Given the description of an element on the screen output the (x, y) to click on. 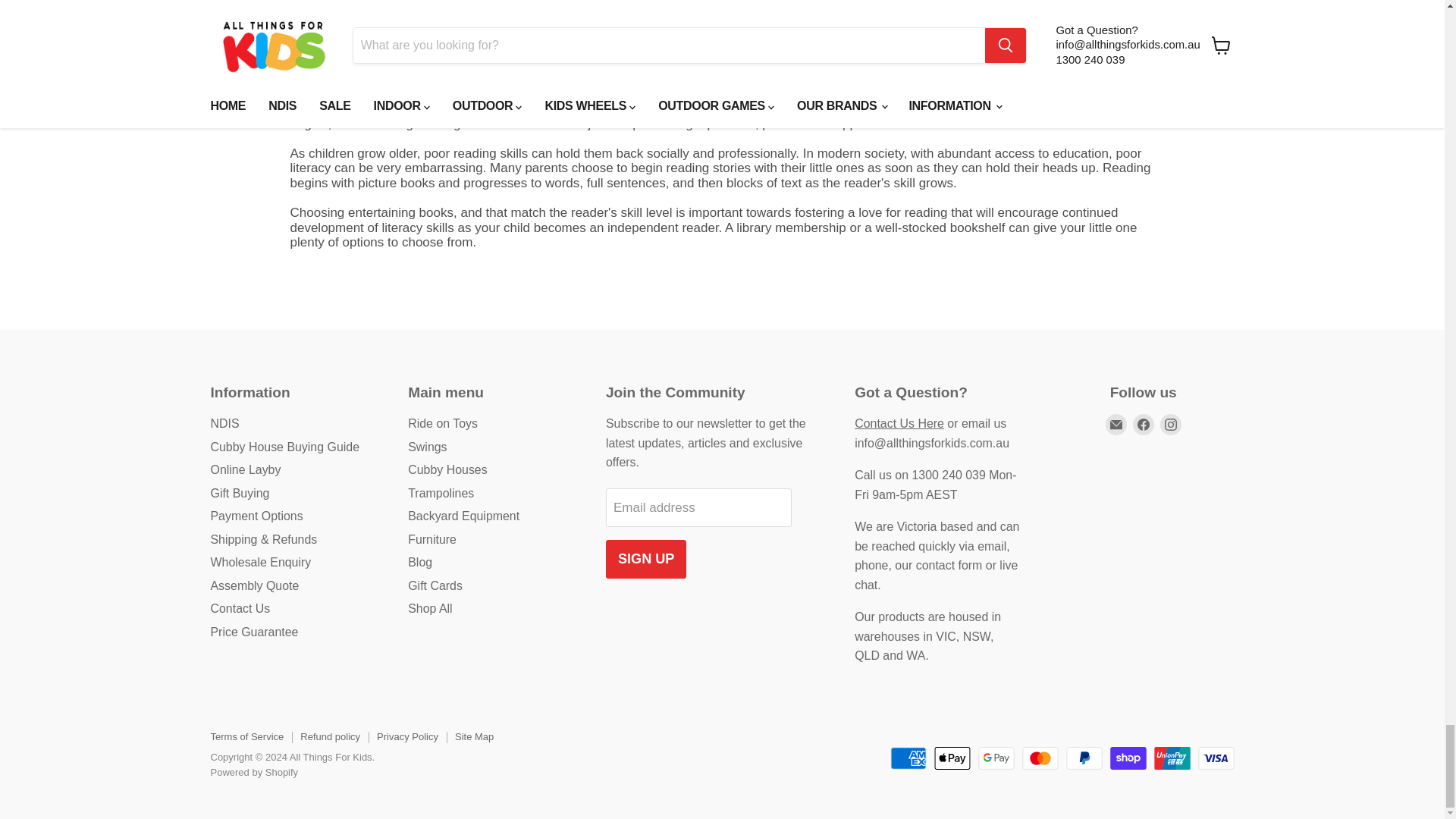
Contact Us (898, 422)
Apple Pay (952, 757)
Email (1115, 424)
Shop Pay (1128, 757)
Instagram (1170, 424)
Mastercard (1040, 757)
PayPal (1083, 757)
Facebook (1143, 424)
Google Pay (996, 757)
American Express (907, 757)
